Given the description of an element on the screen output the (x, y) to click on. 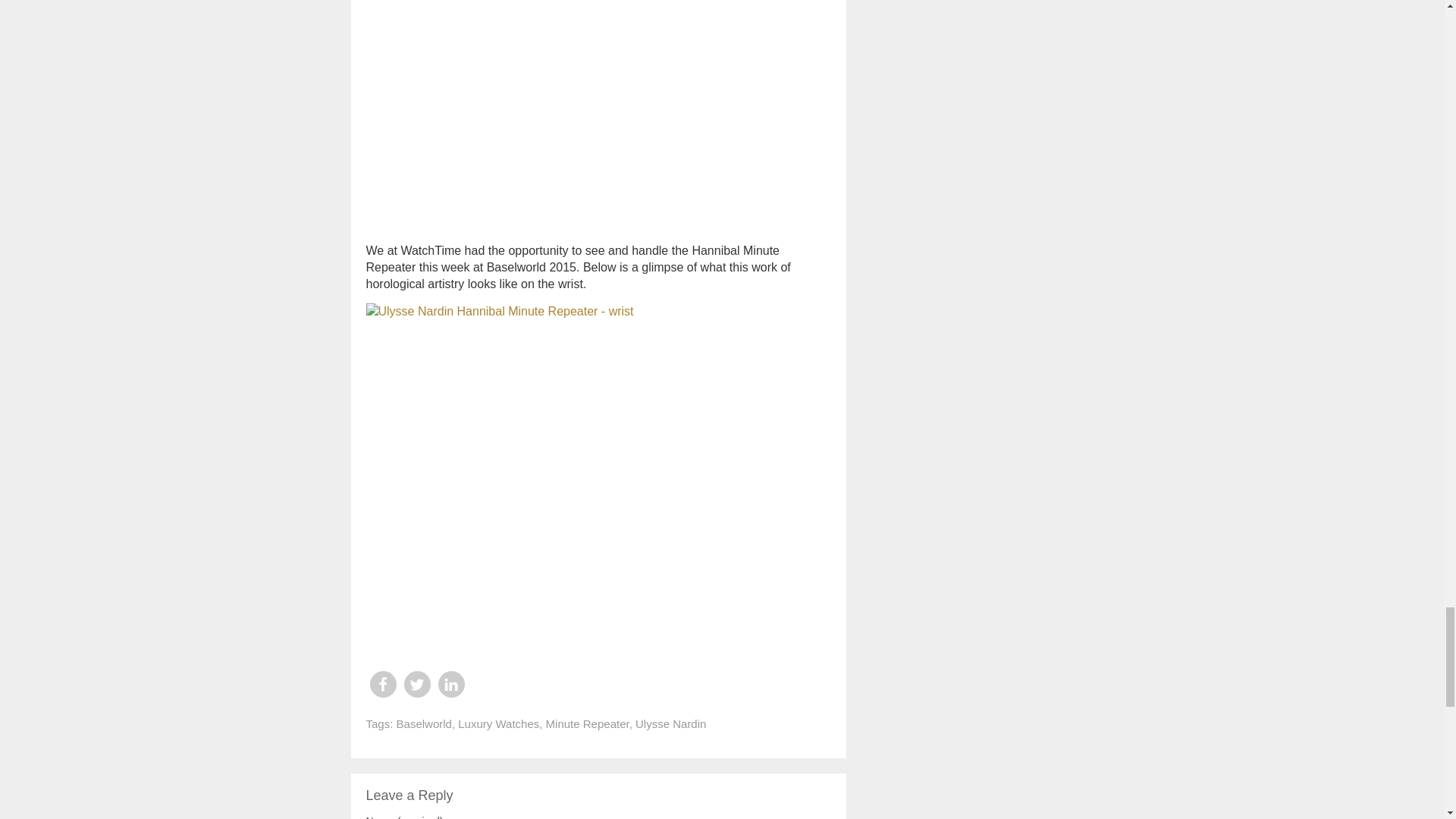
Share on Facebook (382, 683)
Share on LinkedIn (451, 683)
Share on Twitter (416, 683)
